Given the description of an element on the screen output the (x, y) to click on. 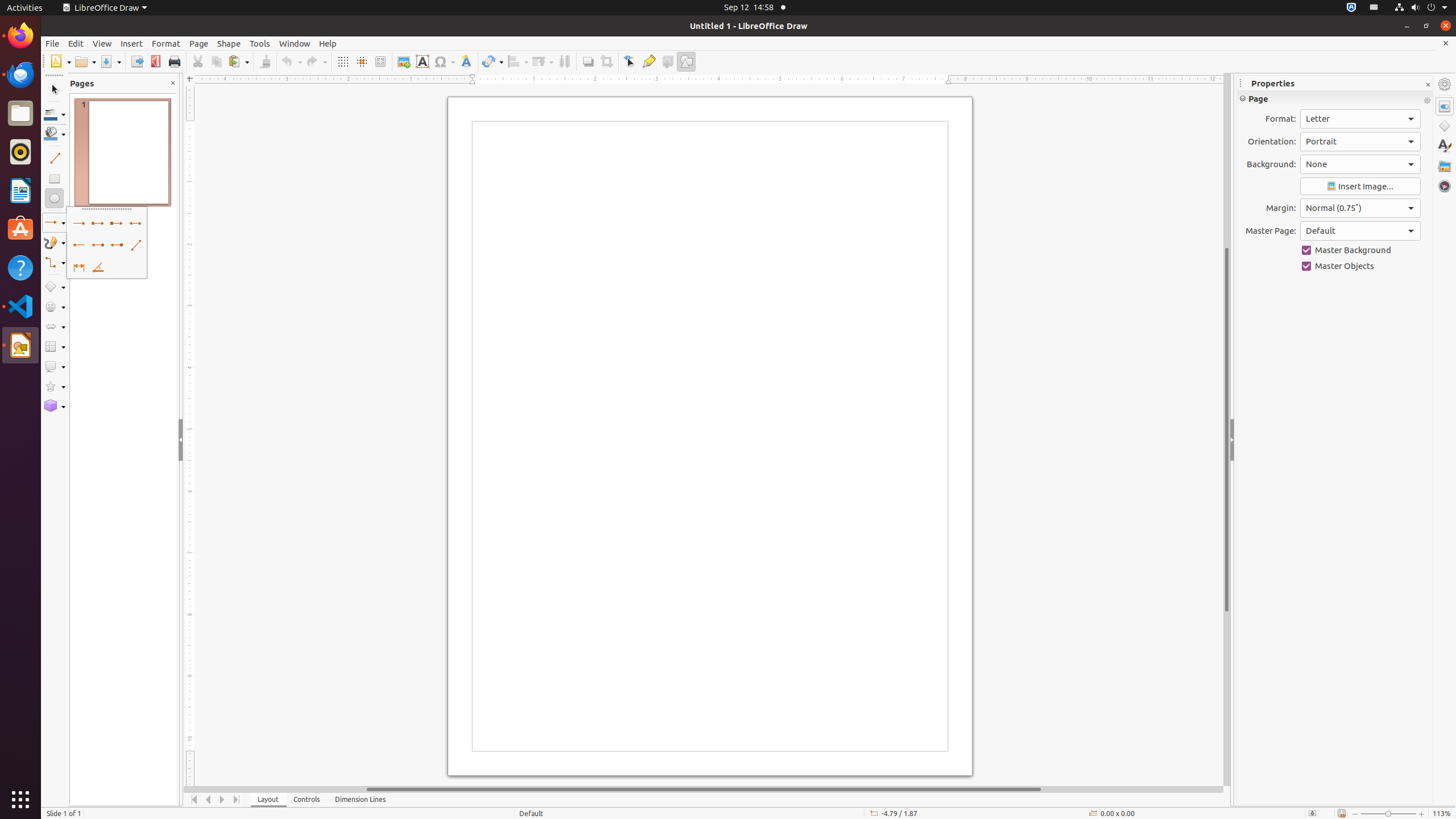
Select Element type: push-button (53, 89)
Format: Element type: combo-box (1360, 118)
Insert Image Element type: push-button (1360, 186)
Clone Element type: push-button (264, 61)
Edit Element type: menu (75, 43)
